Given the description of an element on the screen output the (x, y) to click on. 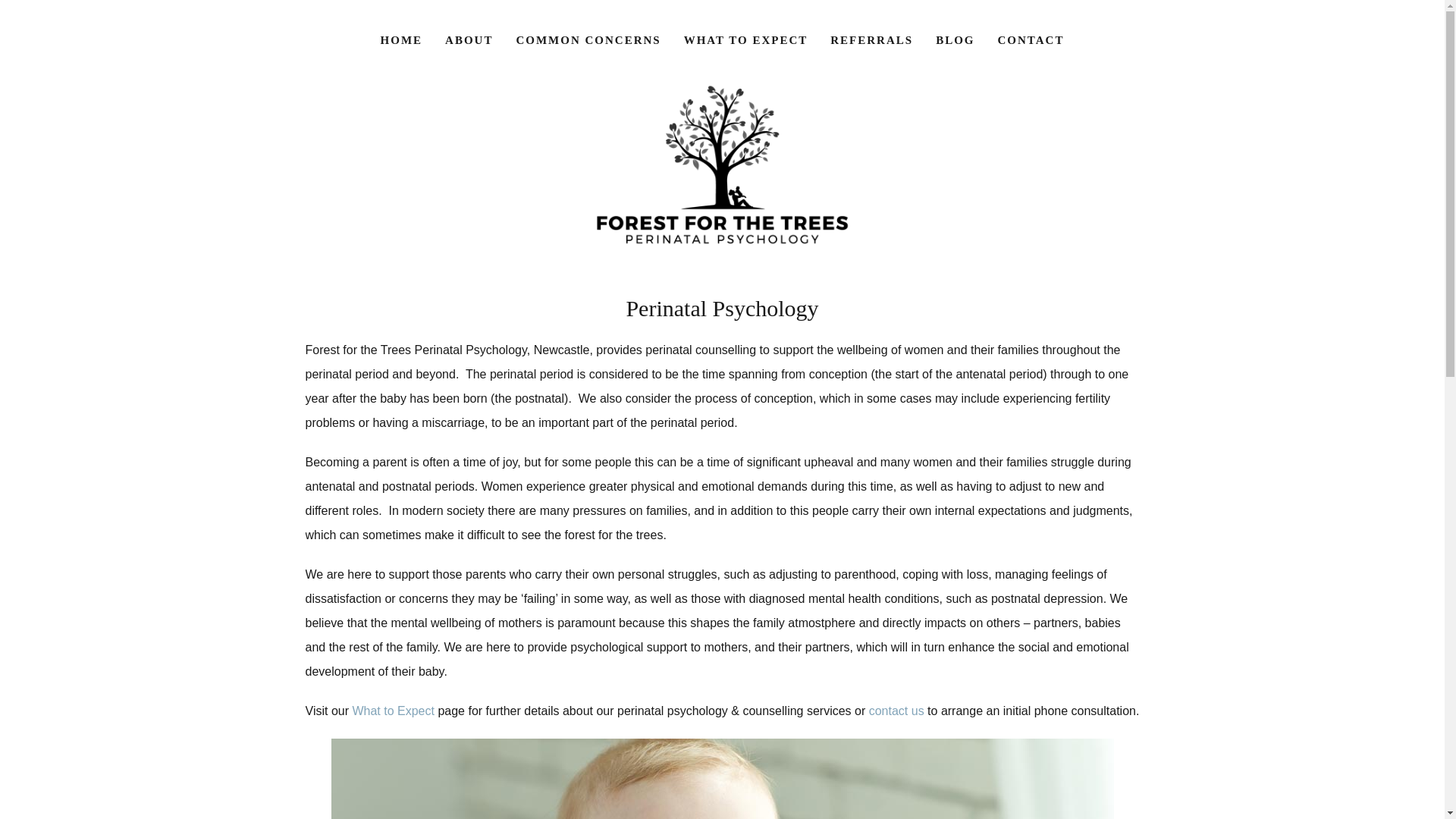
contact us (896, 710)
What to Expect (392, 710)
REFERRALS (871, 40)
WHAT TO EXPECT (745, 40)
Forest for the Trees Perinatal Psychology (721, 164)
CONTACT (1030, 40)
COMMON CONCERNS (587, 40)
